Given the description of an element on the screen output the (x, y) to click on. 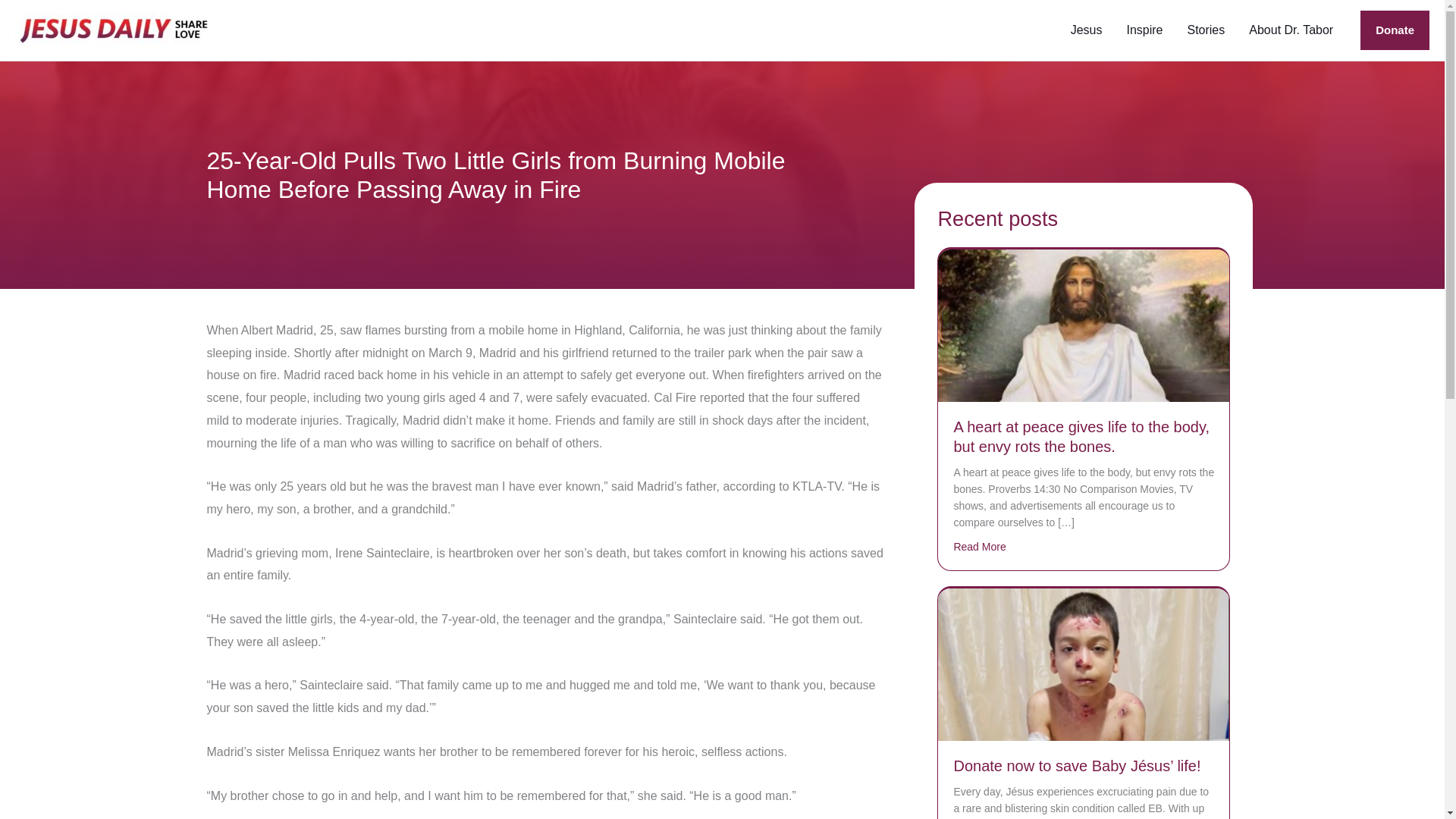
Read More (979, 546)
Inspire (1143, 30)
Stories (1205, 30)
Jesus (1086, 30)
About Dr. Tabor (1290, 30)
Donate (1394, 29)
